Given the description of an element on the screen output the (x, y) to click on. 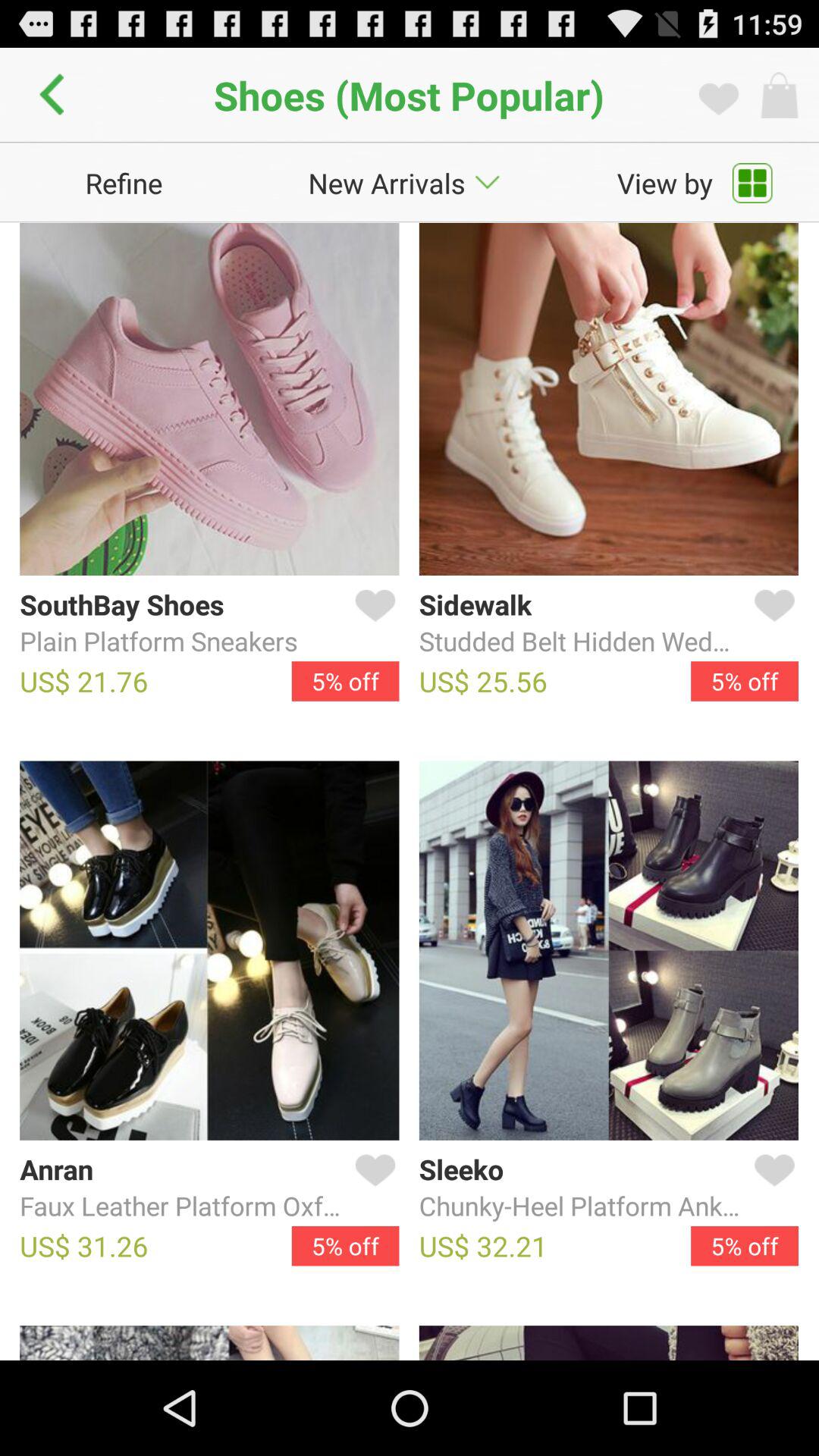
like (372, 623)
